Given the description of an element on the screen output the (x, y) to click on. 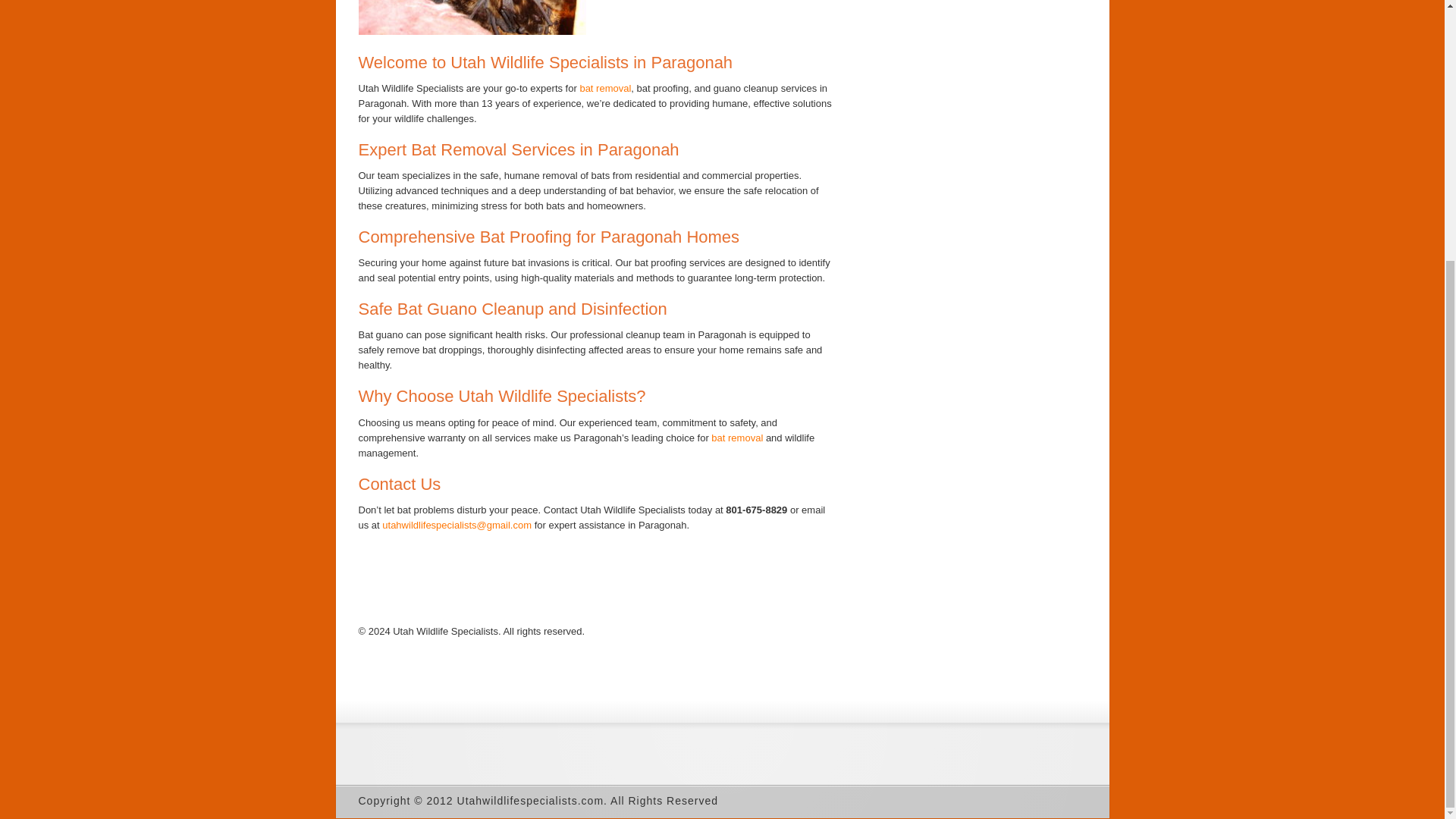
bat removal (736, 437)
bat removal (604, 88)
